Given the description of an element on the screen output the (x, y) to click on. 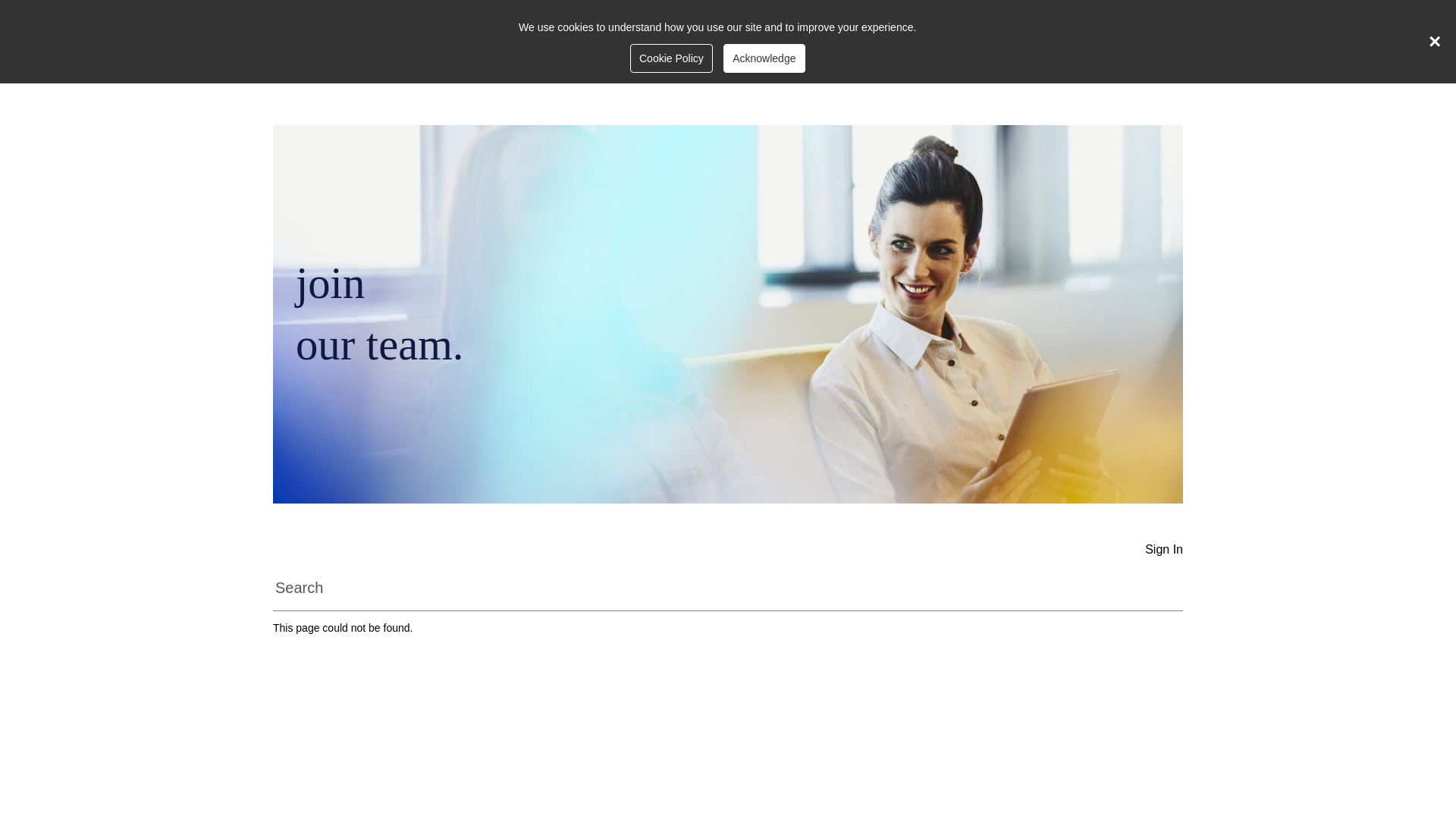
Cookie Policy (671, 58)
Acknowledge (764, 58)
